Given the description of an element on the screen output the (x, y) to click on. 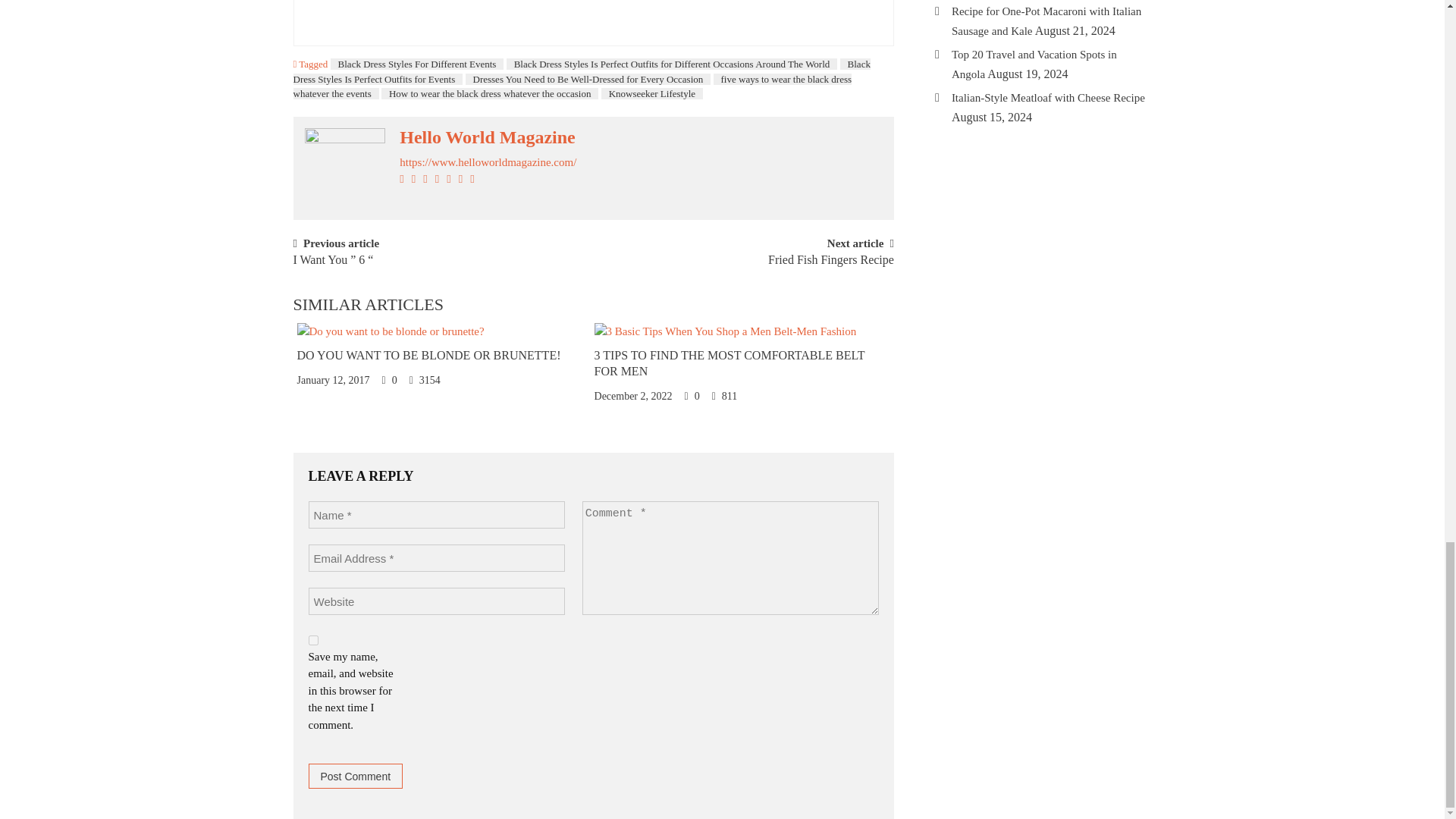
Post Comment (355, 775)
3 Tips to Find the Most Comfortable Belt For Men (725, 330)
Do You Want to Be Blonde or Brunette! (428, 354)
Do You Want to Be Blonde or Brunette! (390, 330)
yes (312, 640)
Do You Want to Be Blonde or Brunette! (440, 331)
